Given the description of an element on the screen output the (x, y) to click on. 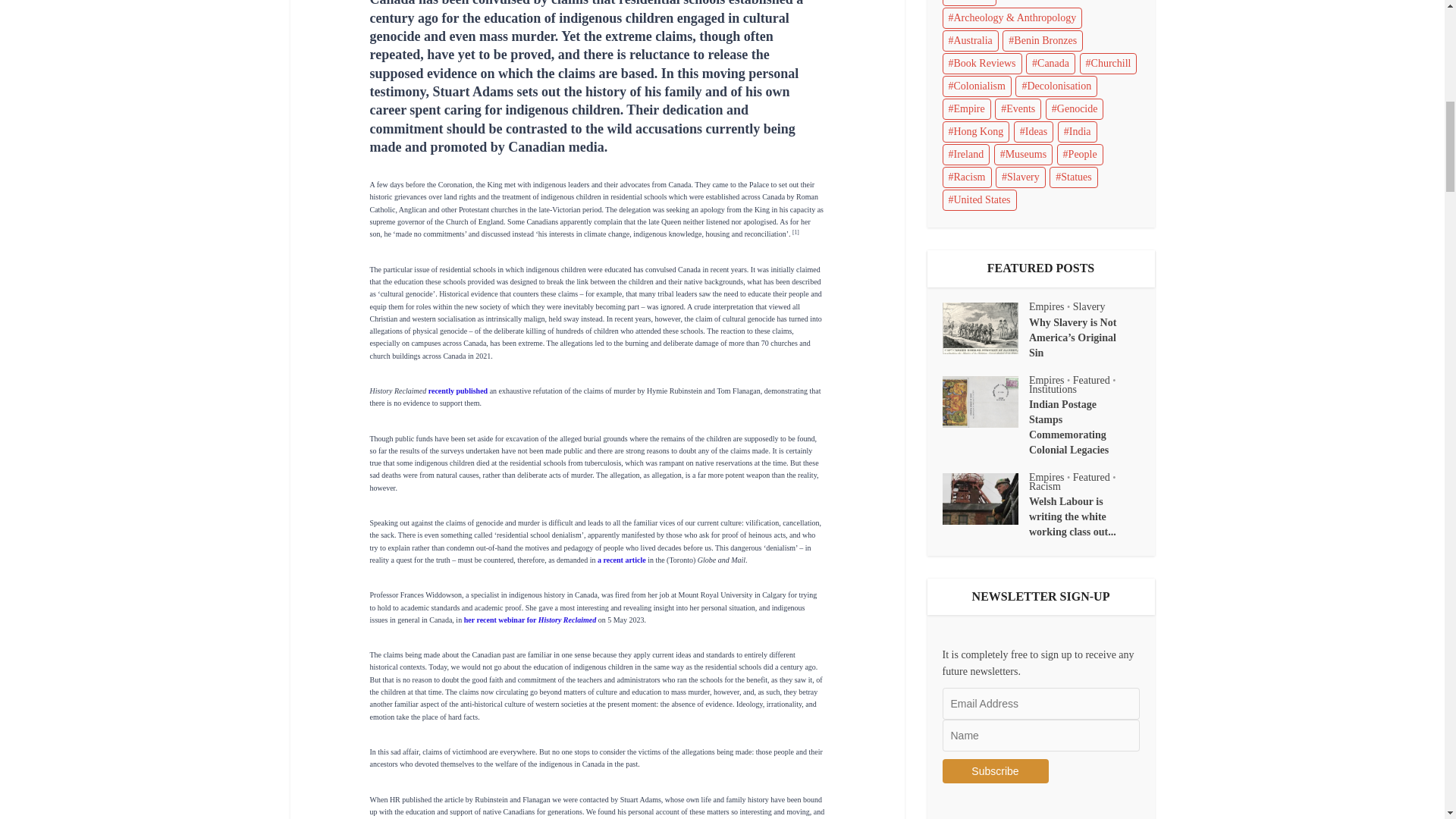
Subscribe (995, 770)
